Given the description of an element on the screen output the (x, y) to click on. 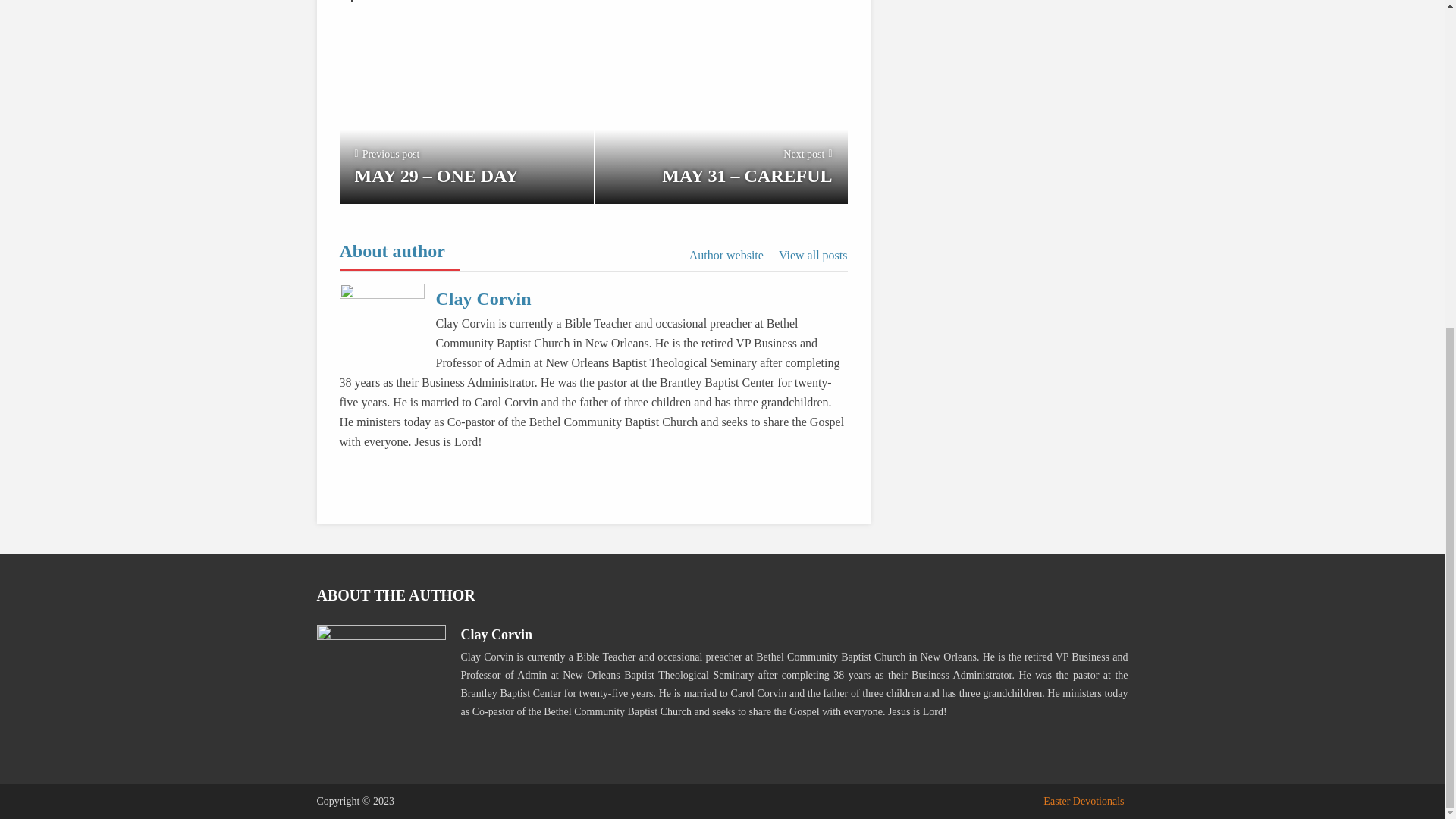
Author website (725, 255)
Easter Devotionals (1083, 800)
View all posts (812, 255)
